Given the description of an element on the screen output the (x, y) to click on. 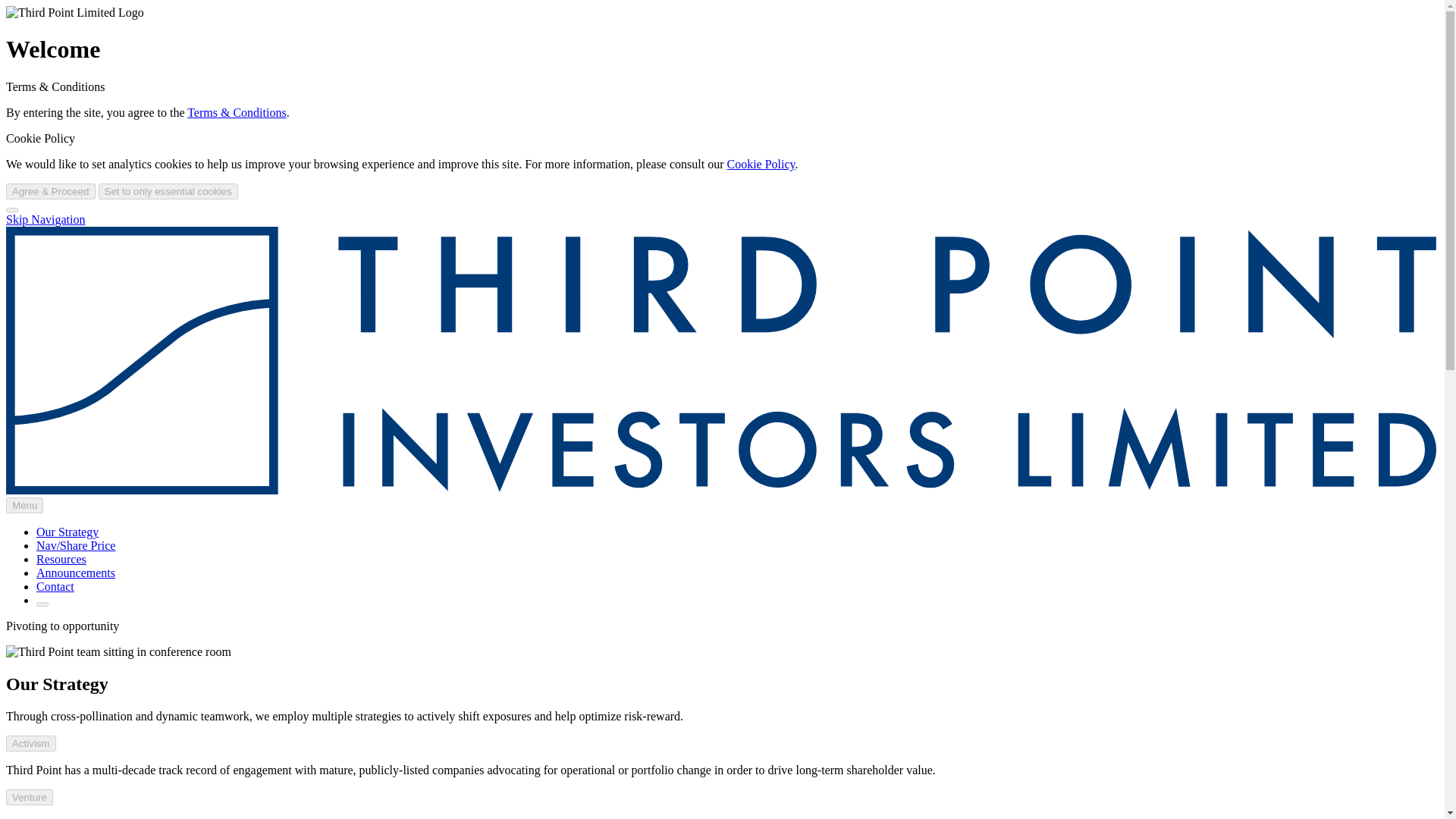
Menu (24, 505)
Resources (60, 558)
Venture (28, 797)
Cookie Policy (760, 164)
Our Strategy (67, 531)
Activism (30, 743)
Contact (55, 585)
Set to only essential cookies (168, 191)
Skip Navigation (44, 219)
Announcements (75, 572)
